Given the description of an element on the screen output the (x, y) to click on. 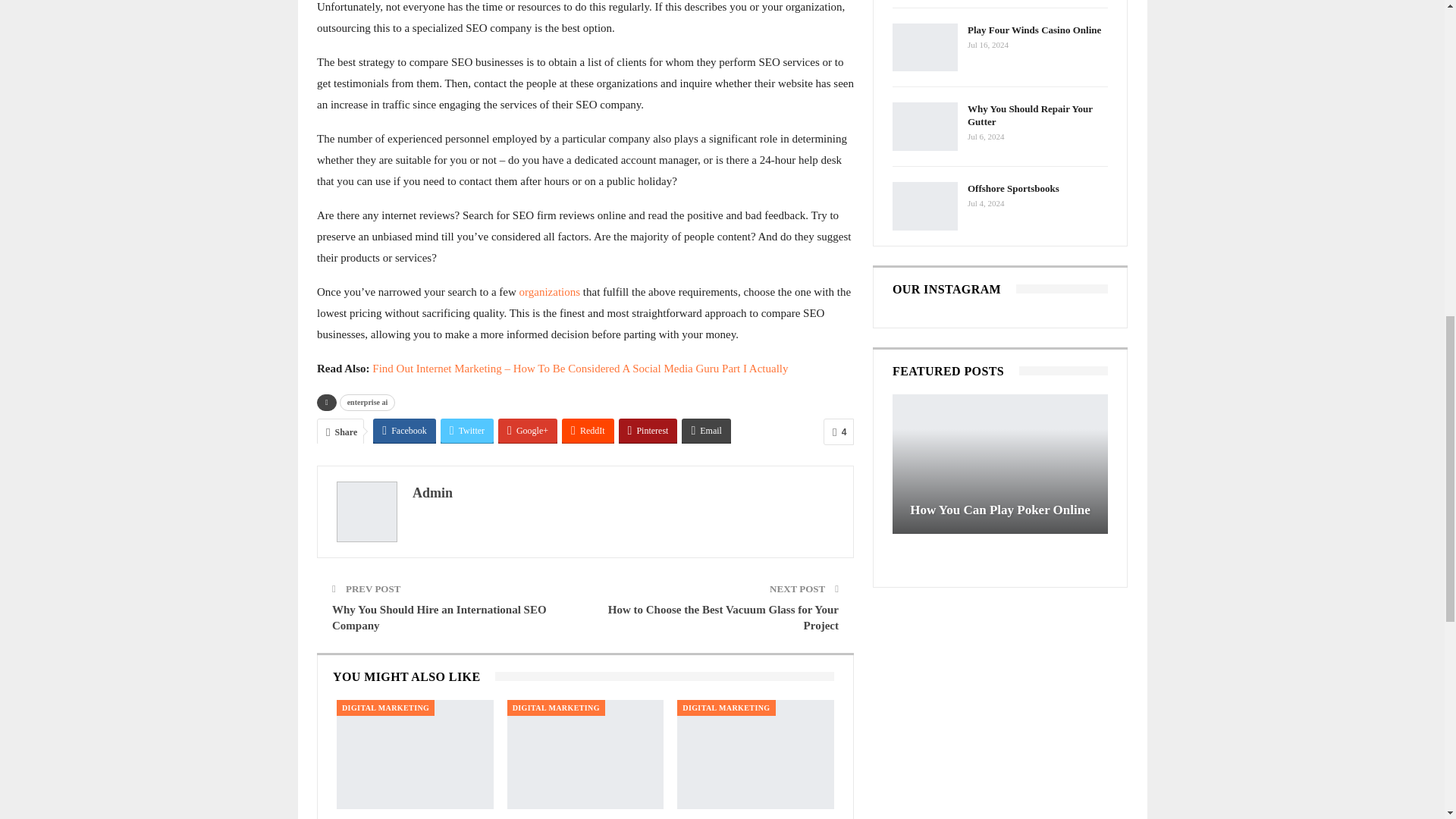
What Are Technical SEO Services? (584, 754)
Play Four Winds Casino Online (925, 47)
Google Home Script Editor (414, 754)
The Costa Rica Housing Market Continues to Thrive (755, 754)
